Given the description of an element on the screen output the (x, y) to click on. 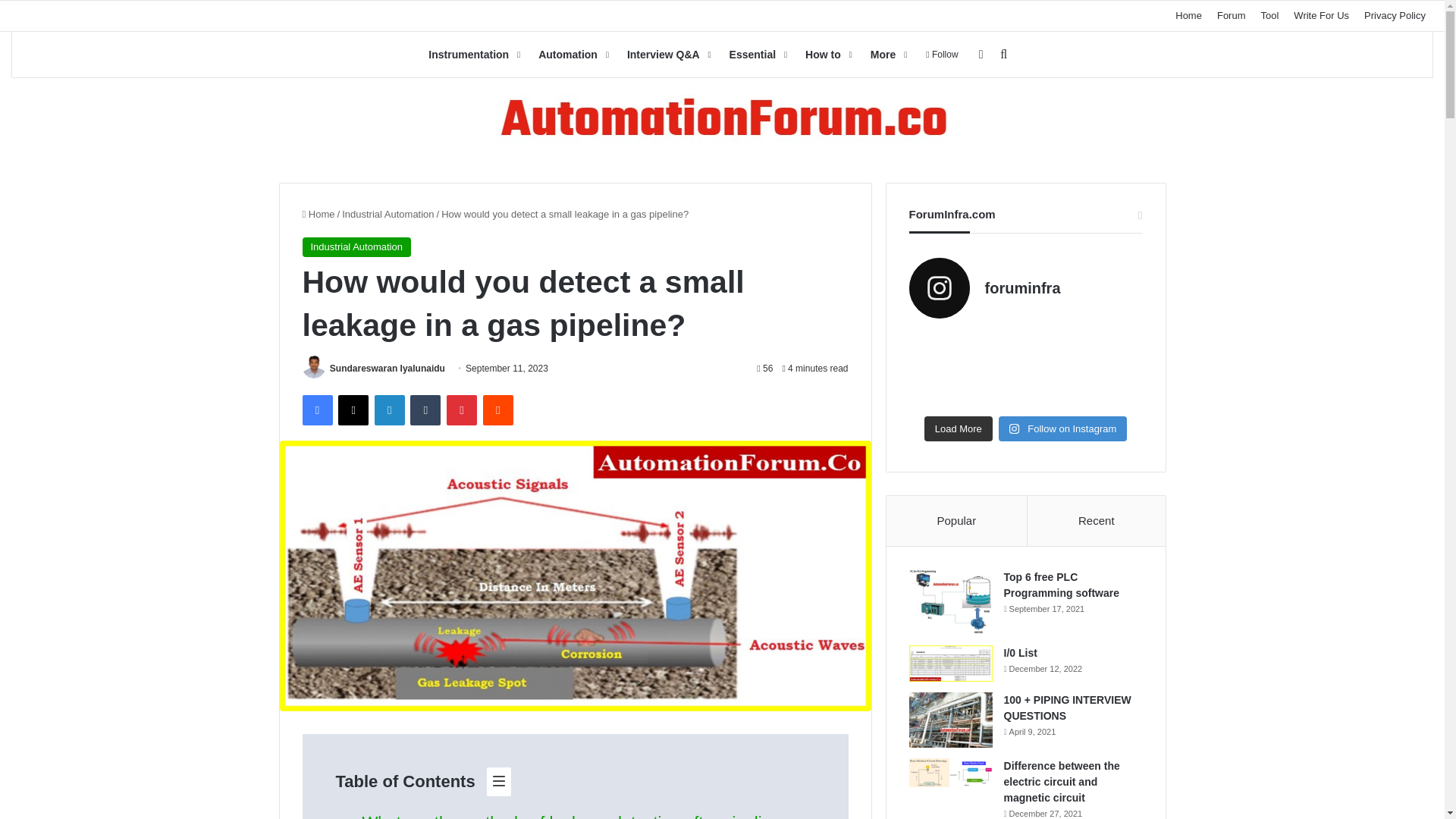
How to (827, 53)
Instrumentation (472, 53)
Pinterest (461, 409)
X (352, 409)
Reddit (498, 409)
Instrumentation and Control Engineering (722, 119)
Tumblr (425, 409)
Facebook (316, 409)
Privacy Policy (1394, 15)
Automation (571, 53)
Forum (1231, 15)
Sundareswaran Iyalunaidu (387, 368)
Write For Us (1320, 15)
LinkedIn (389, 409)
Essential (756, 53)
